Given the description of an element on the screen output the (x, y) to click on. 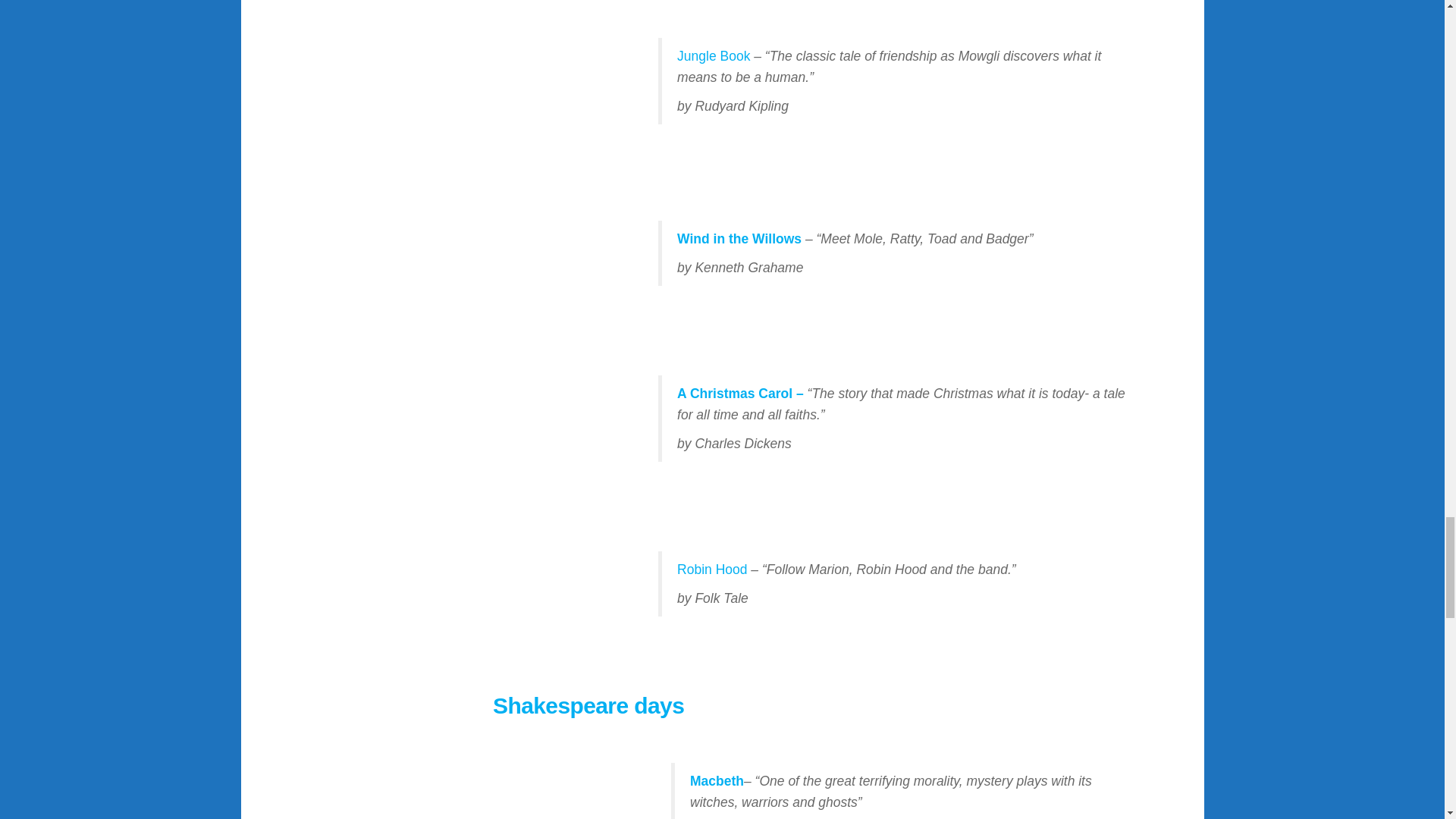
Jungle Book (713, 55)
Shakespeare days (588, 705)
Wind in the Willows (739, 238)
Robin Hood  (714, 569)
